Given the description of an element on the screen output the (x, y) to click on. 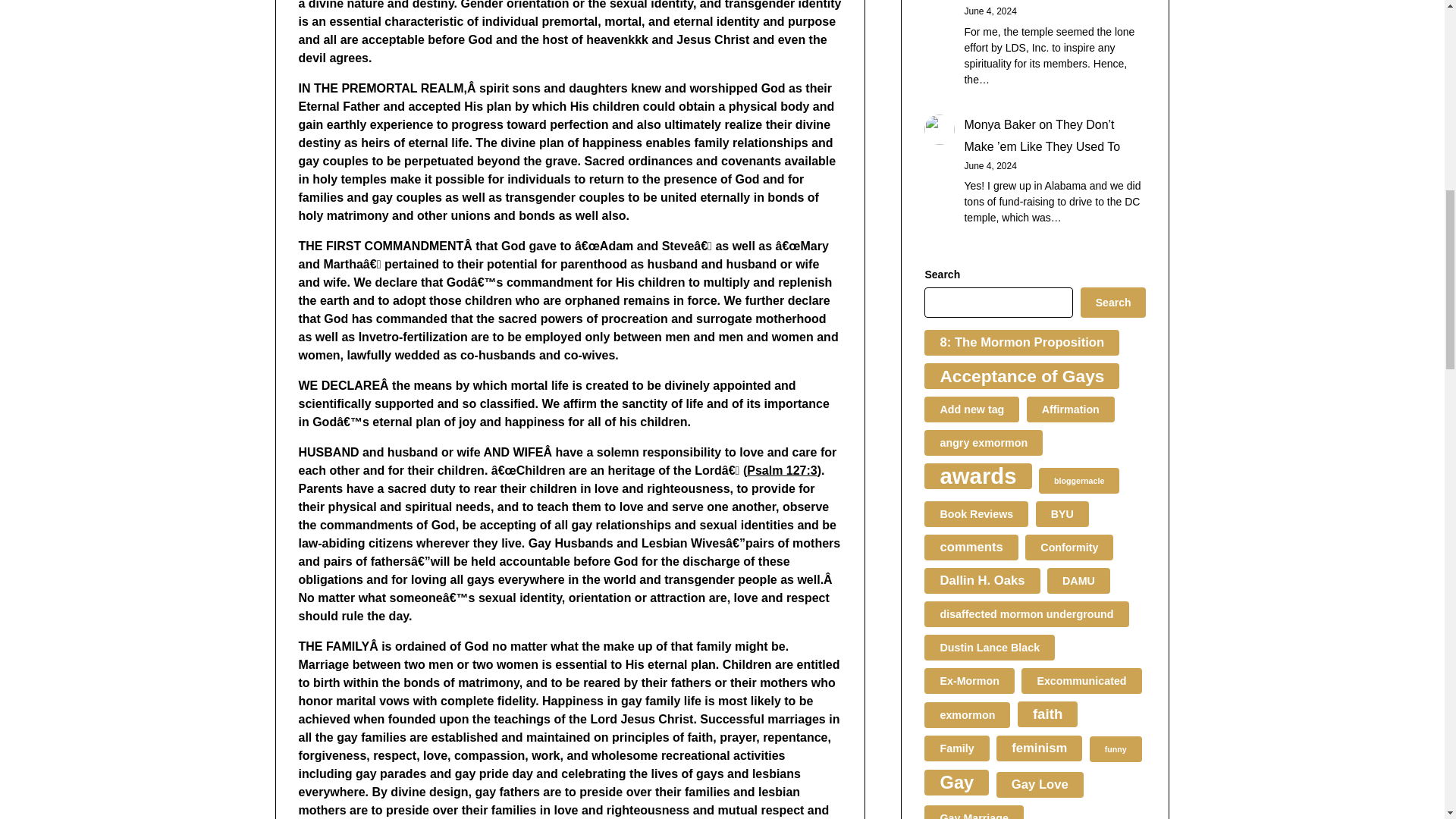
Psalm 127:3 (781, 470)
